Given the description of an element on the screen output the (x, y) to click on. 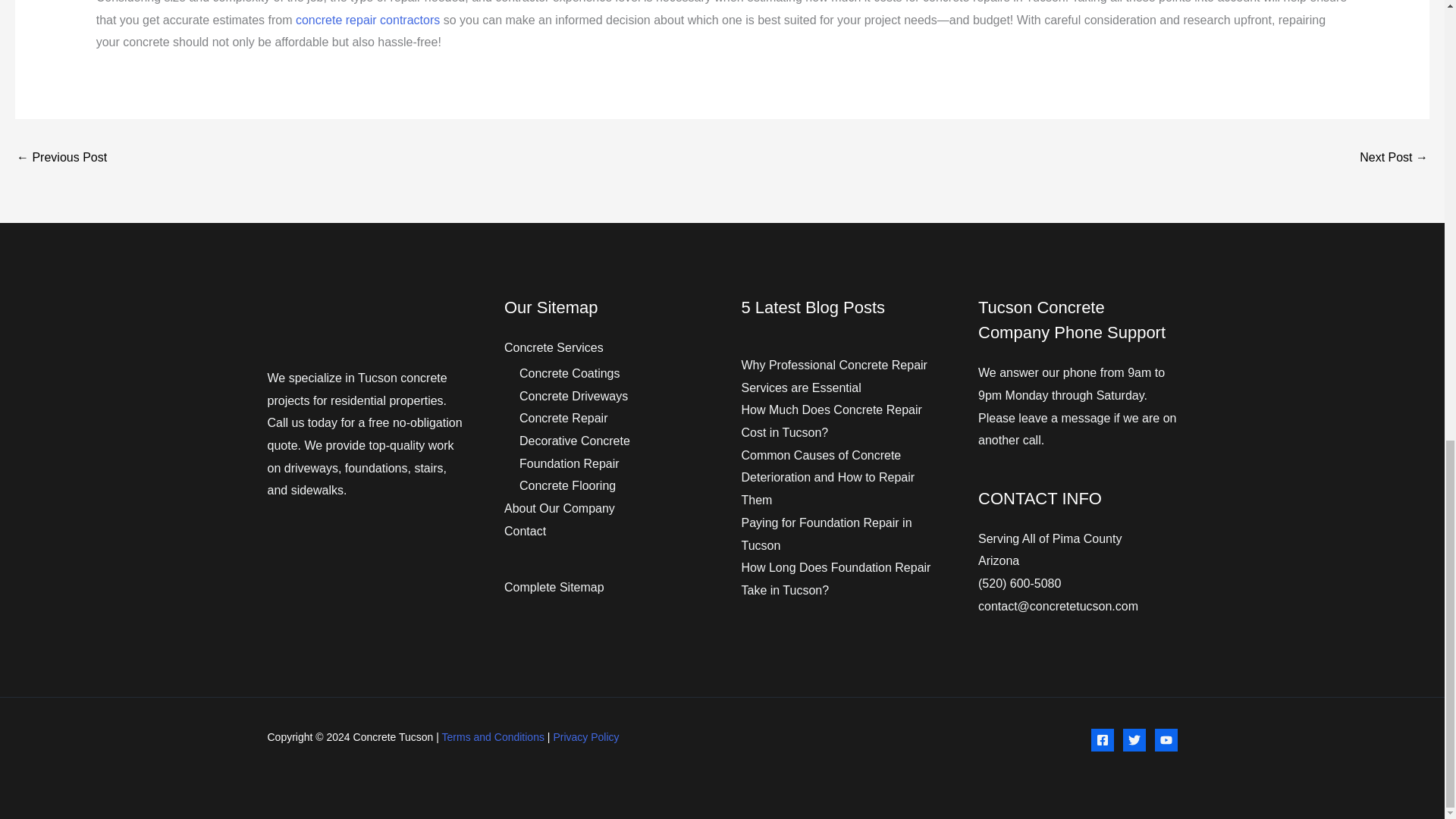
Concrete Coatings (569, 373)
Concrete Repair (563, 418)
concrete repair contractors (367, 19)
Why Professional Concrete Repair Services are Essential (1393, 158)
Concrete Driveways (573, 395)
Decorative Concrete (574, 440)
Concrete Services (553, 347)
